Given the description of an element on the screen output the (x, y) to click on. 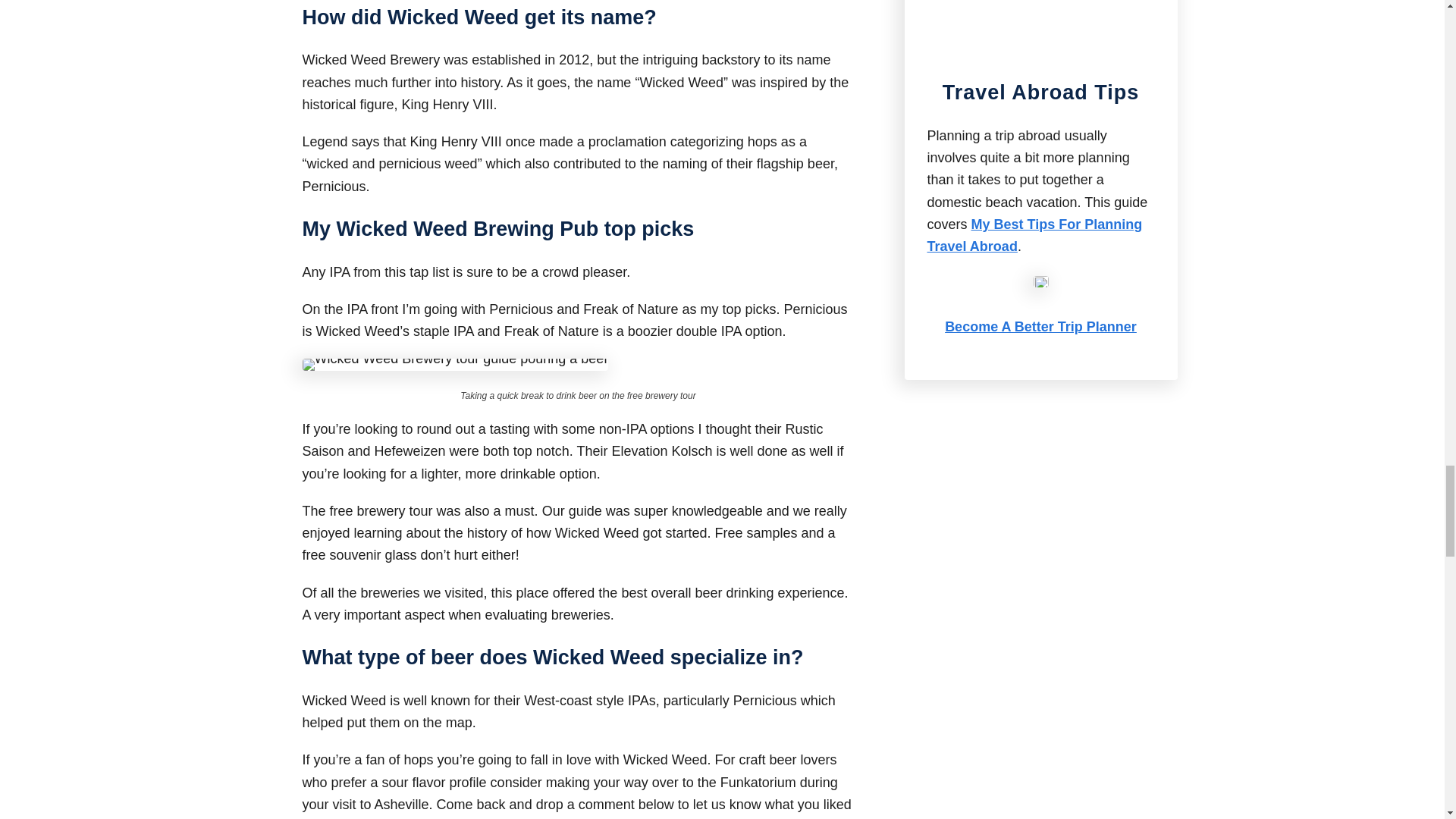
Taking a quick break to drink beer on the free brewery tour (454, 363)
